Given the description of an element on the screen output the (x, y) to click on. 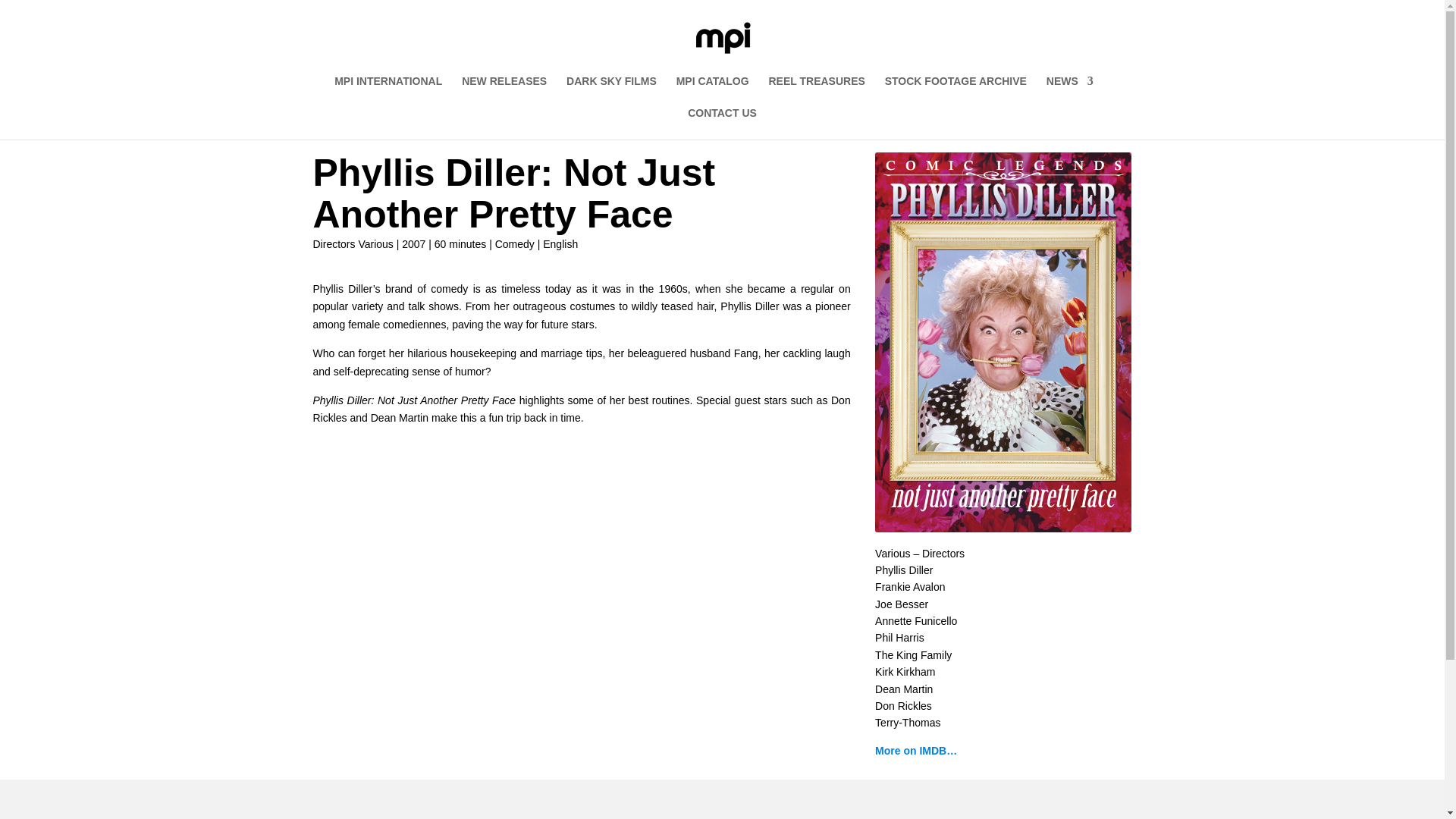
NEW RELEASES (504, 91)
MPI INTERNATIONAL (388, 91)
CONTACT US (722, 123)
REEL TREASURES (816, 91)
MPI CATALOG (713, 91)
STOCK FOOTAGE ARCHIVE (955, 91)
DARK SKY FILMS (611, 91)
NEWS (1069, 91)
